Given the description of an element on the screen output the (x, y) to click on. 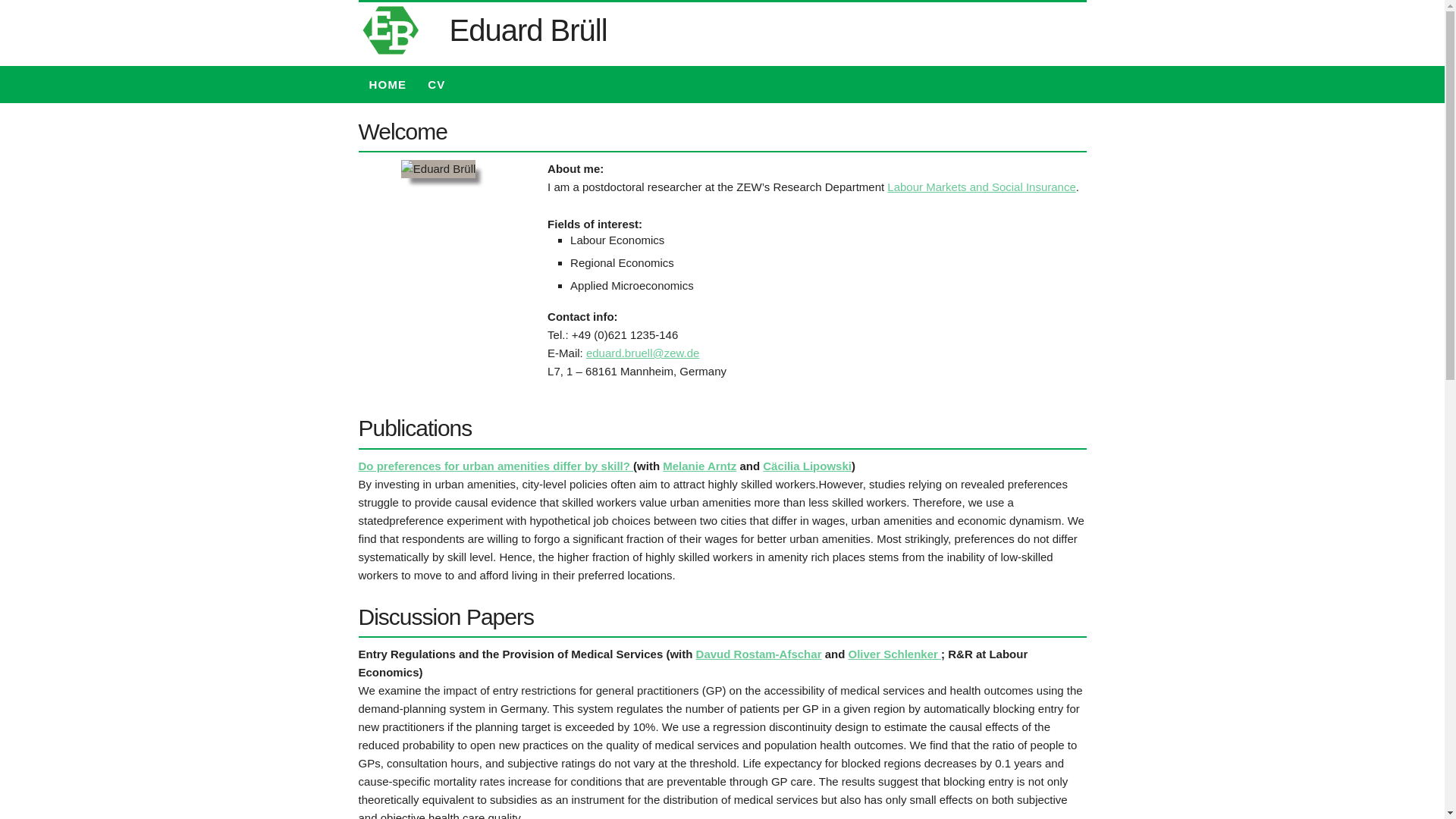
CV (435, 84)
Do preferences for urban amenities differ by skill? (495, 465)
HOME (387, 84)
Davud Rostam-Afschar (758, 653)
Labour Markets and Social Insurance (980, 186)
Melanie Arntz (699, 465)
Oliver Schlenker (893, 653)
